Given the description of an element on the screen output the (x, y) to click on. 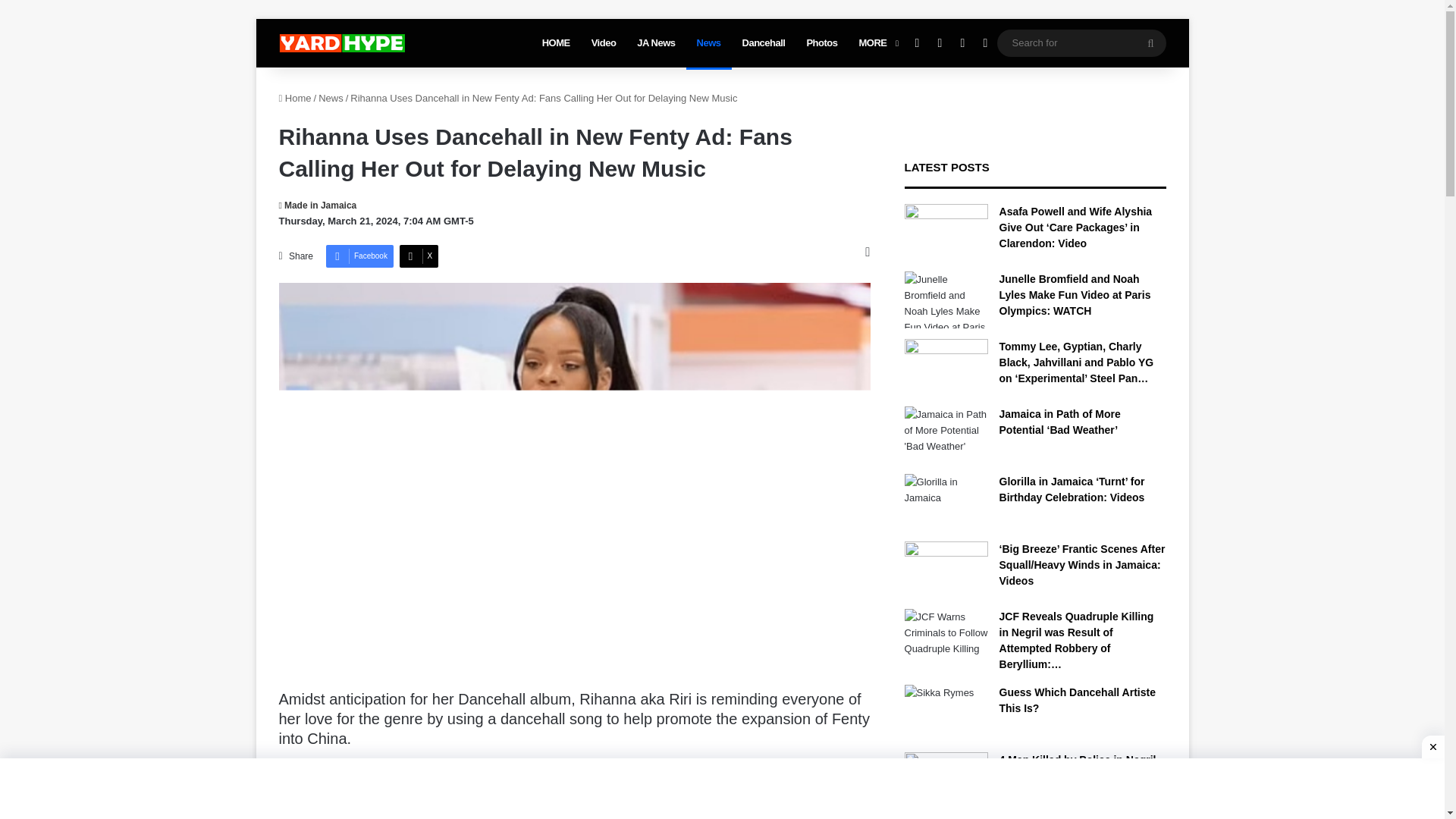
TikTok (984, 42)
Dancehall (764, 42)
Instagram (962, 42)
Search for (1080, 42)
News (708, 42)
Search for (1150, 42)
News (330, 98)
Facebook (359, 255)
JA News (655, 42)
Made in Jamaica (317, 204)
Photos (820, 42)
Made in Jamaica (317, 204)
X (939, 42)
Facebook (359, 255)
Video (603, 42)
